Given the description of an element on the screen output the (x, y) to click on. 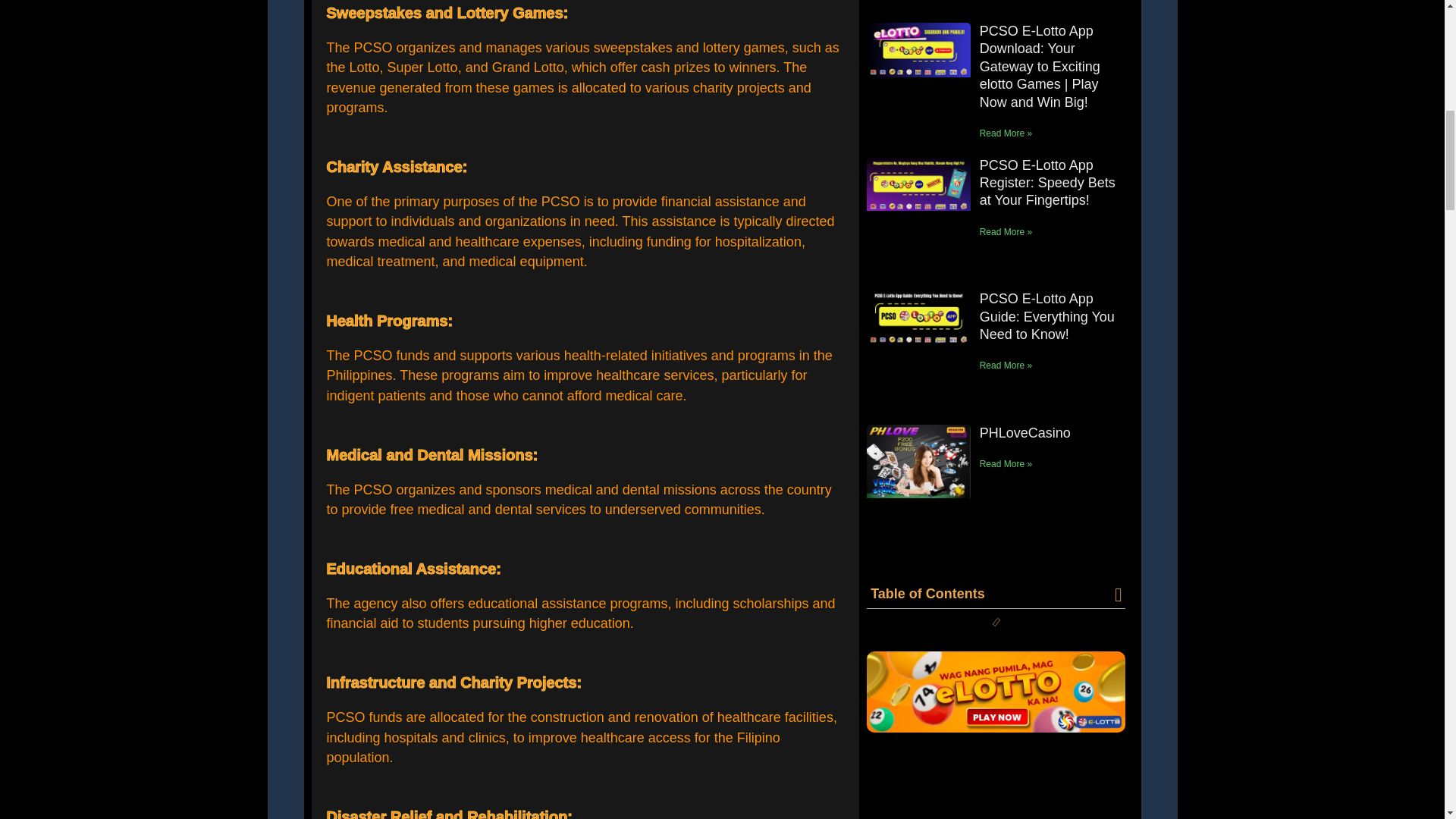
PCSO E-Lotto App Guide: Everything You Need to Know! (1047, 316)
PHLoveCasino (1024, 432)
PCSO E-Lotto App Register: Speedy Bets at Your Fingertips! (1047, 183)
